Given the description of an element on the screen output the (x, y) to click on. 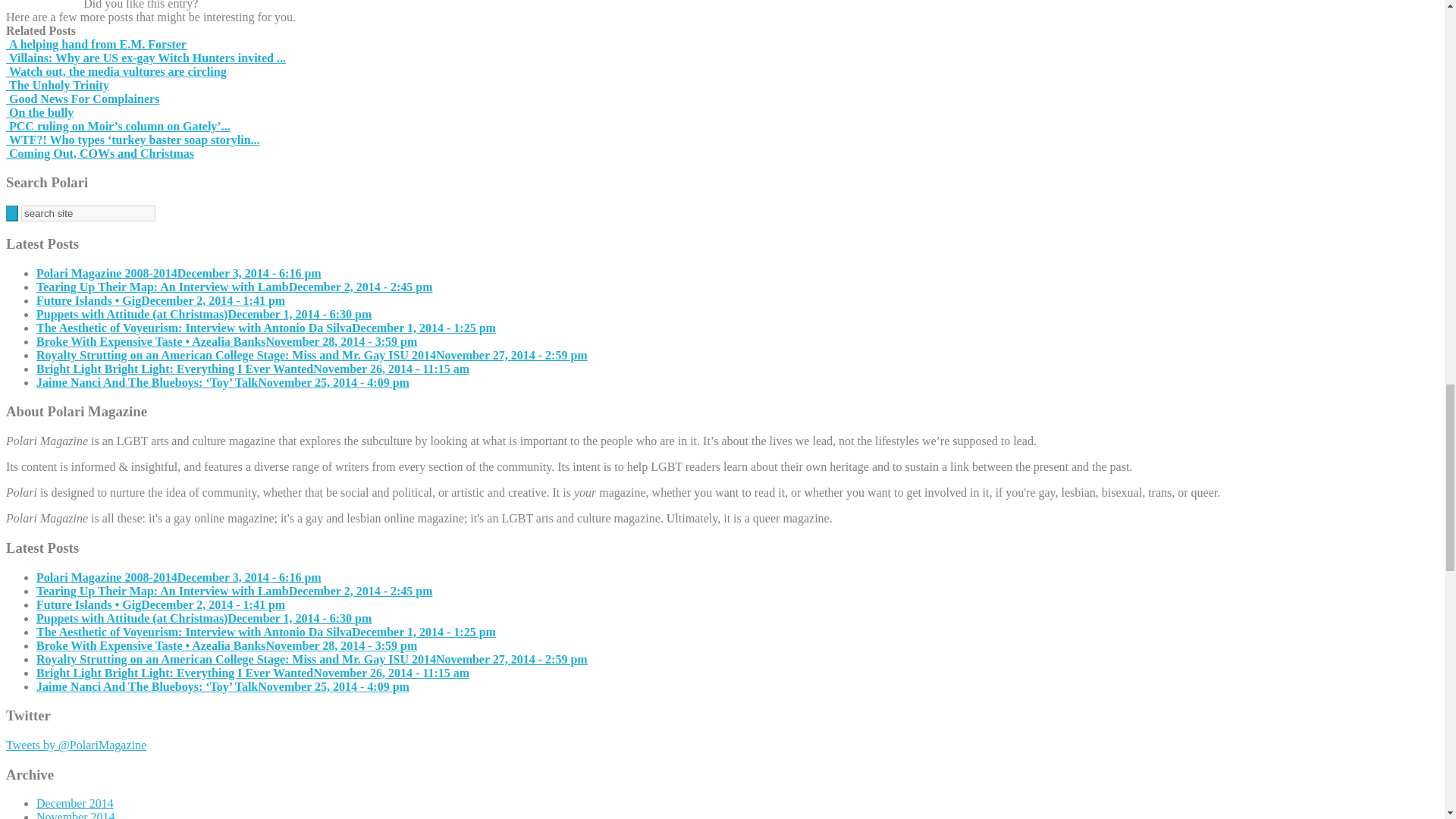
search site (88, 213)
